Given the description of an element on the screen output the (x, y) to click on. 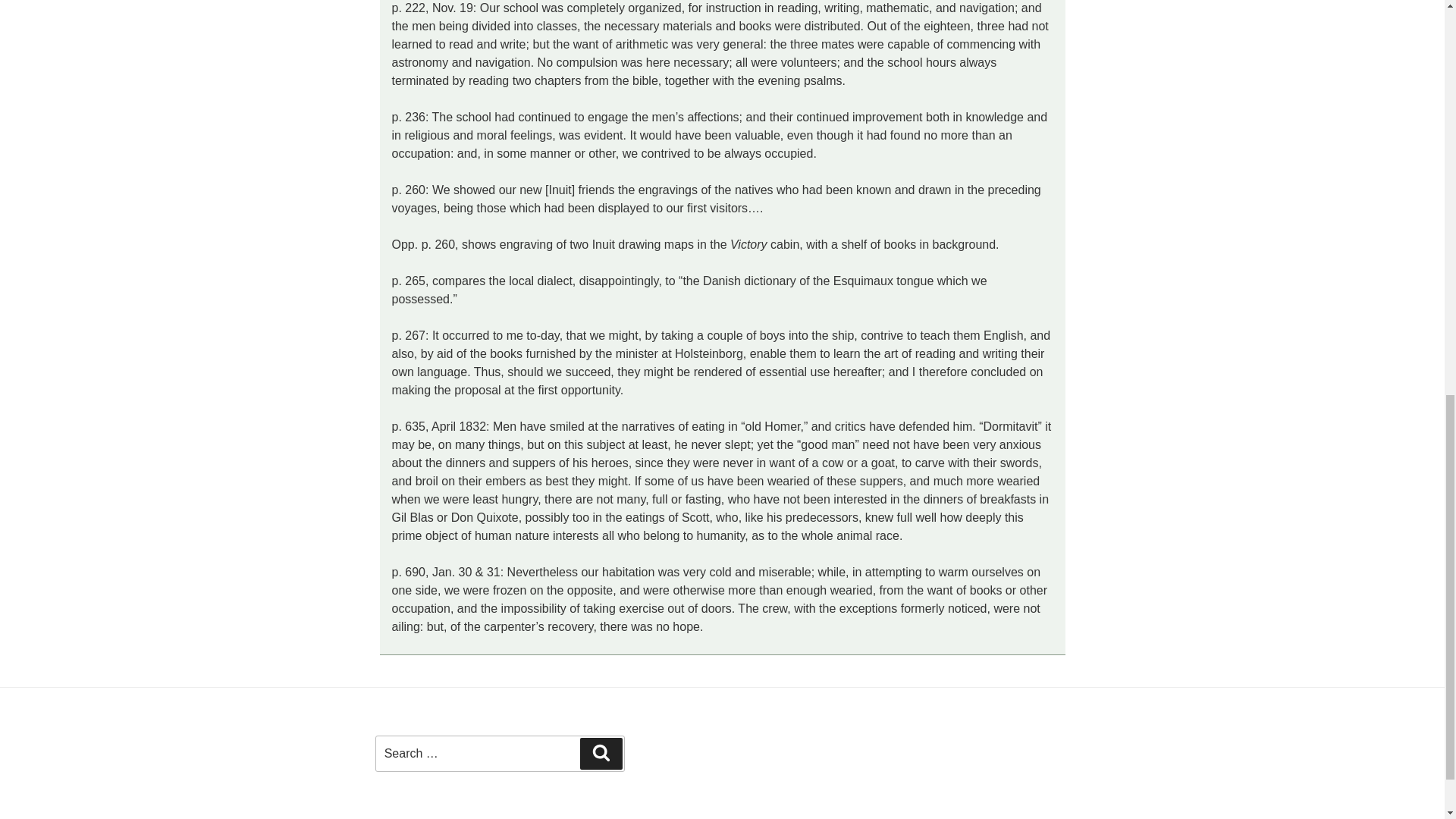
Search (601, 753)
